Given the description of an element on the screen output the (x, y) to click on. 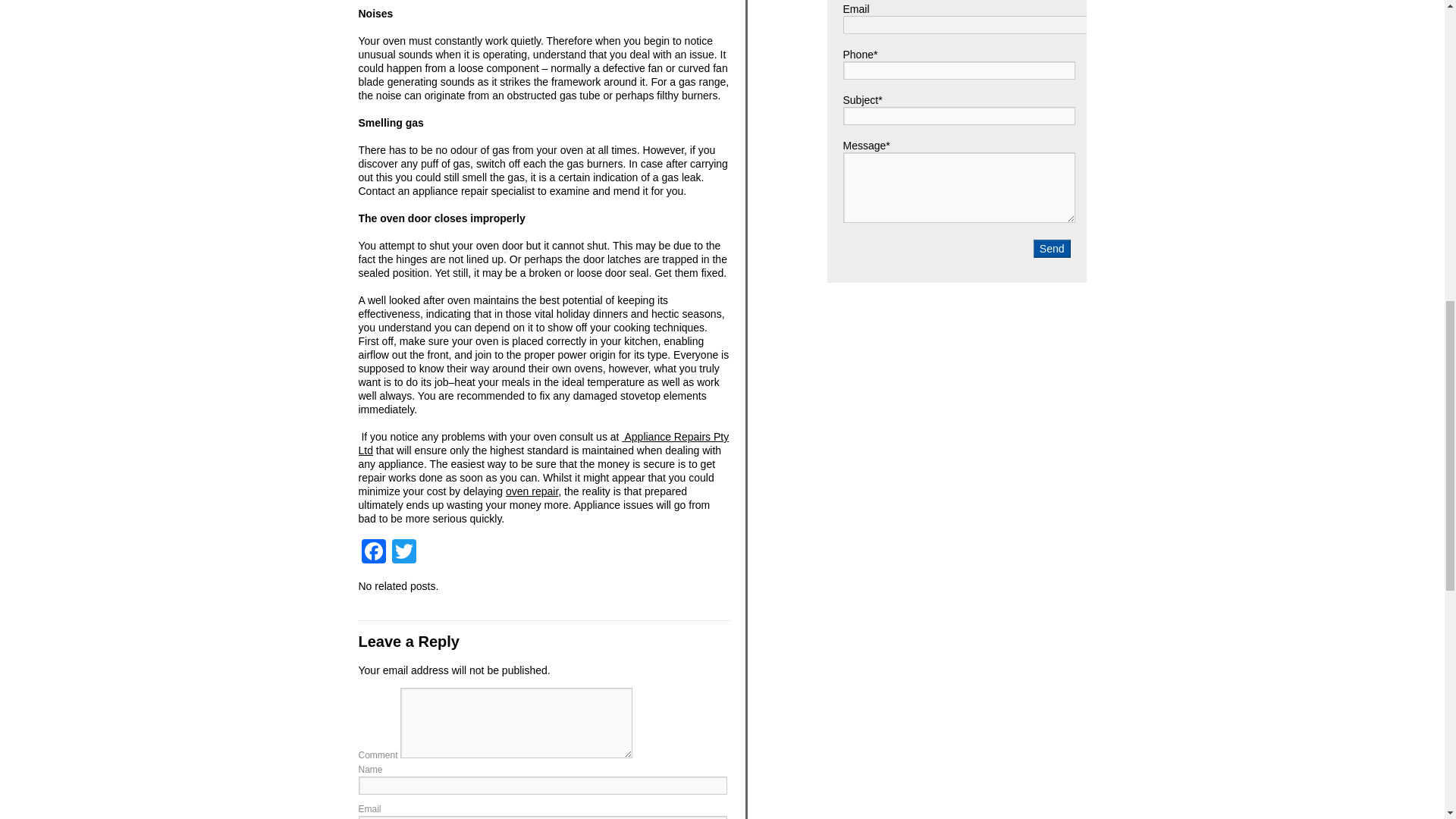
Send (1051, 248)
Facebook (373, 552)
Facebook (373, 552)
Appliance Repairs Pty Ltd (543, 443)
oven repair (531, 491)
Twitter (403, 552)
Send (1051, 248)
Twitter (403, 552)
